Given the description of an element on the screen output the (x, y) to click on. 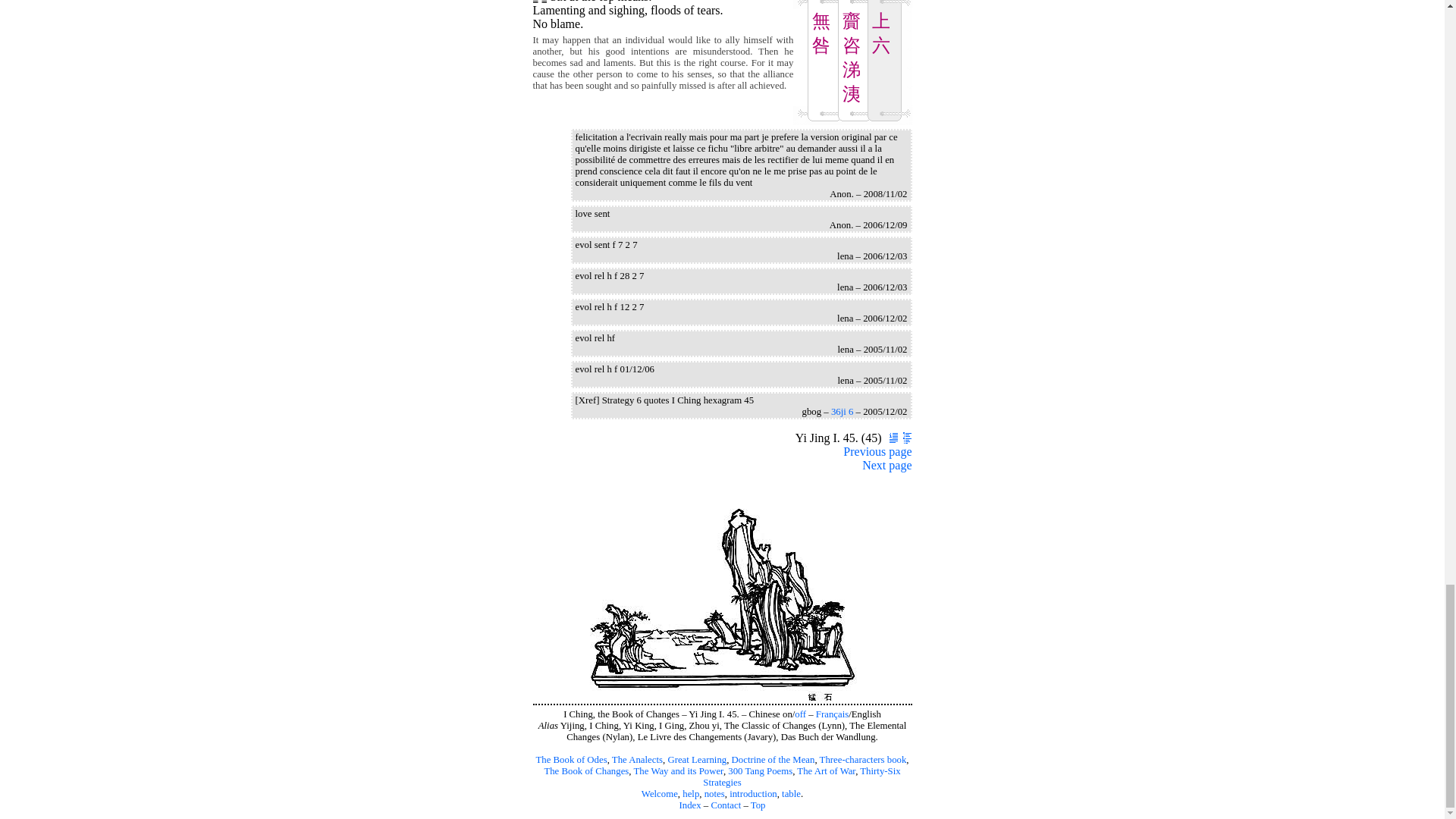
Introduction (890, 437)
Do not display chinese characters (800, 714)
Table of content (904, 437)
